Given the description of an element on the screen output the (x, y) to click on. 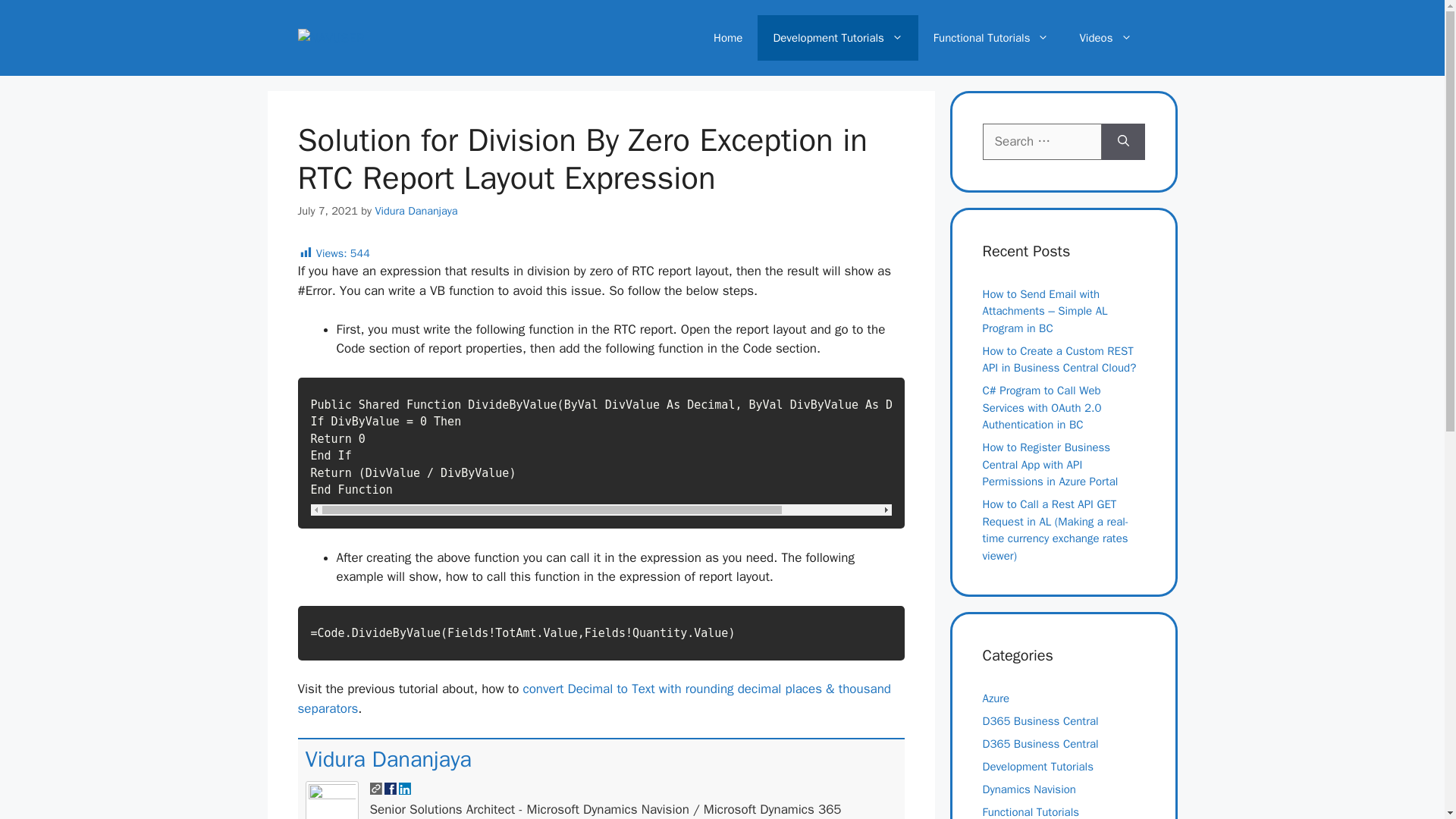
Videos (1105, 37)
Development Tutorials (837, 37)
NAVUSER (330, 37)
All posts by Vidura Dananjaya (387, 759)
Functional Tutorials (991, 37)
Vidura Dananjaya (415, 210)
Vidura Dananjaya (387, 759)
NAVUSER (330, 38)
How to Create a Custom REST API in Business Central Cloud? (1059, 359)
Home (727, 37)
